Given the description of an element on the screen output the (x, y) to click on. 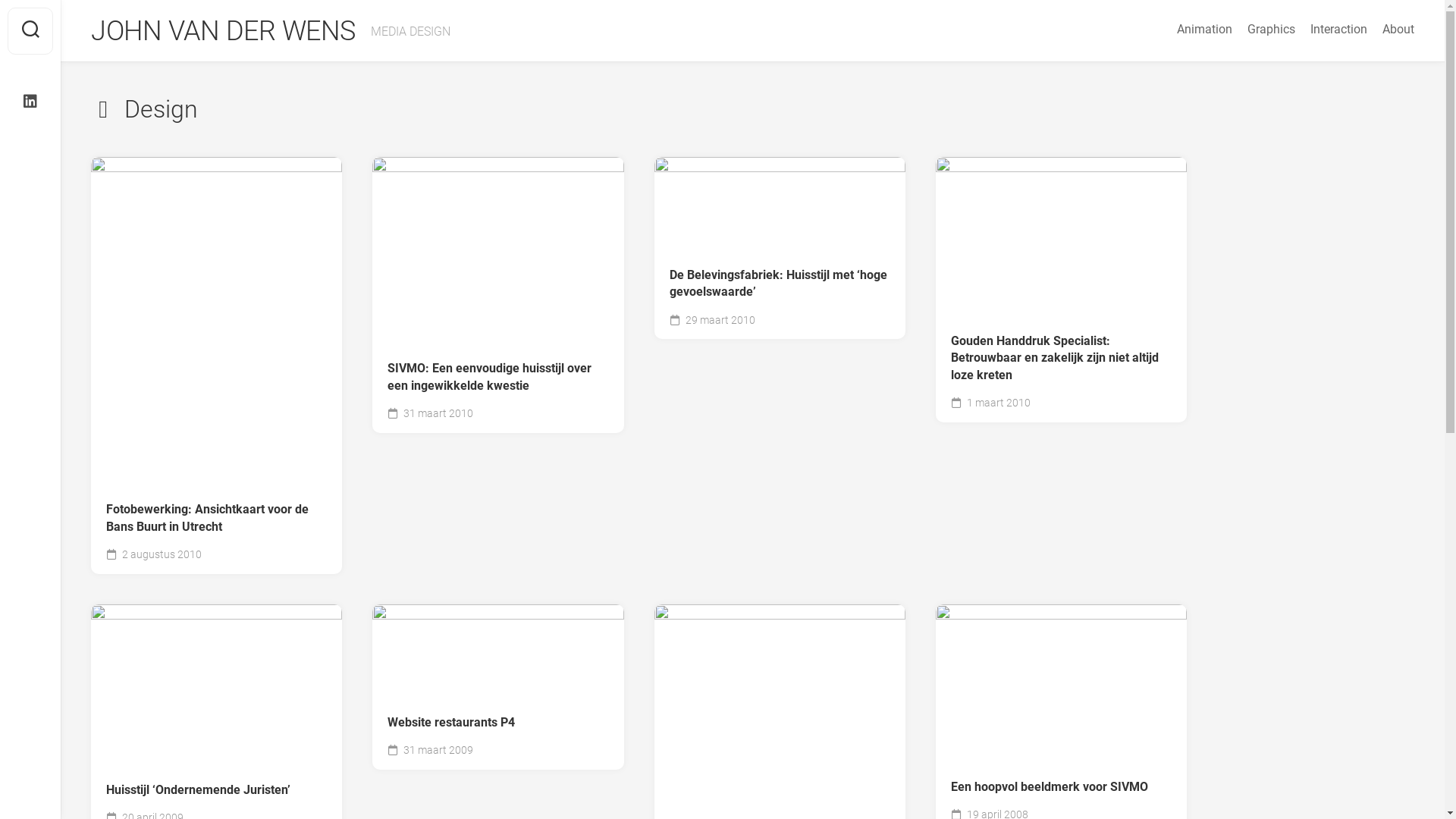
LinkedIn Element type: hover (30, 101)
Website restaurants P4 Element type: text (497, 722)
JOHN VAN DER WENS Element type: text (223, 30)
Fotobewerking: Ansichtkaart voor de Bans Buurt in Utrecht Element type: text (216, 518)
Animation Element type: text (1204, 29)
Graphics Element type: text (1271, 29)
About Element type: text (1398, 29)
Een hoopvol beeldmerk voor SIVMO Element type: text (1060, 787)
Interaction Element type: text (1338, 29)
